Given the description of an element on the screen output the (x, y) to click on. 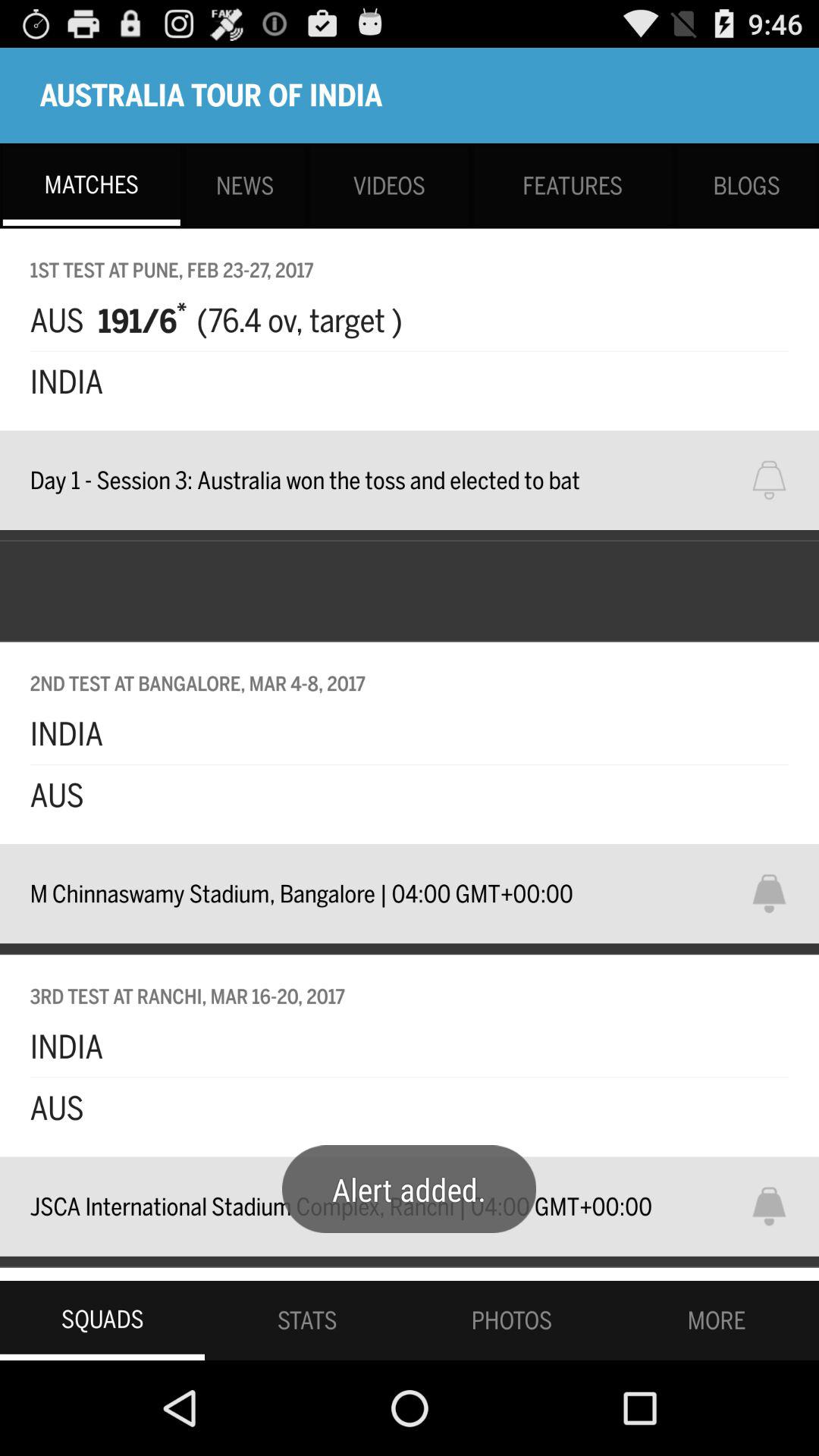
alert (778, 1206)
